Given the description of an element on the screen output the (x, y) to click on. 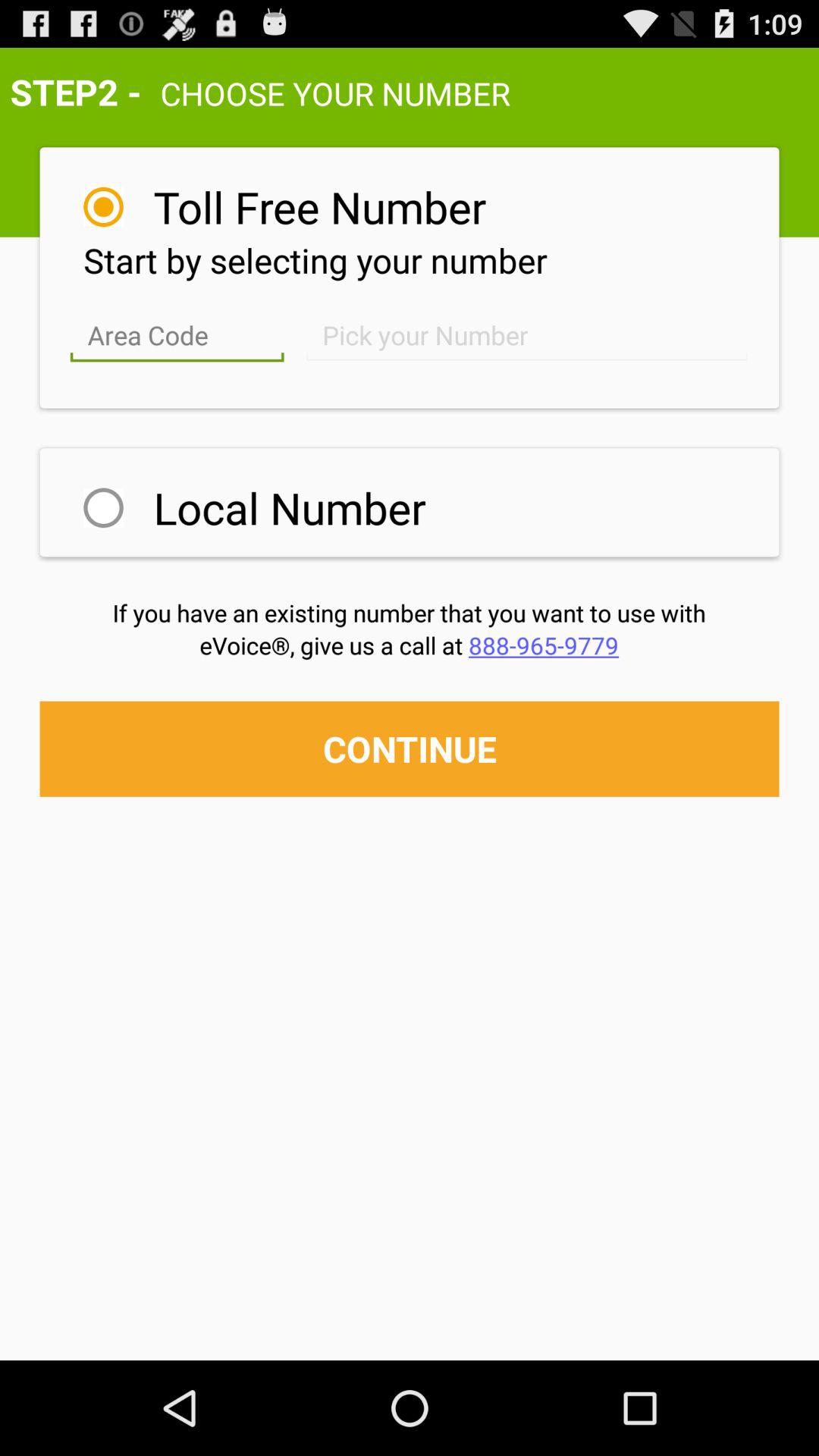
click the app below if you have icon (408, 645)
